Given the description of an element on the screen output the (x, y) to click on. 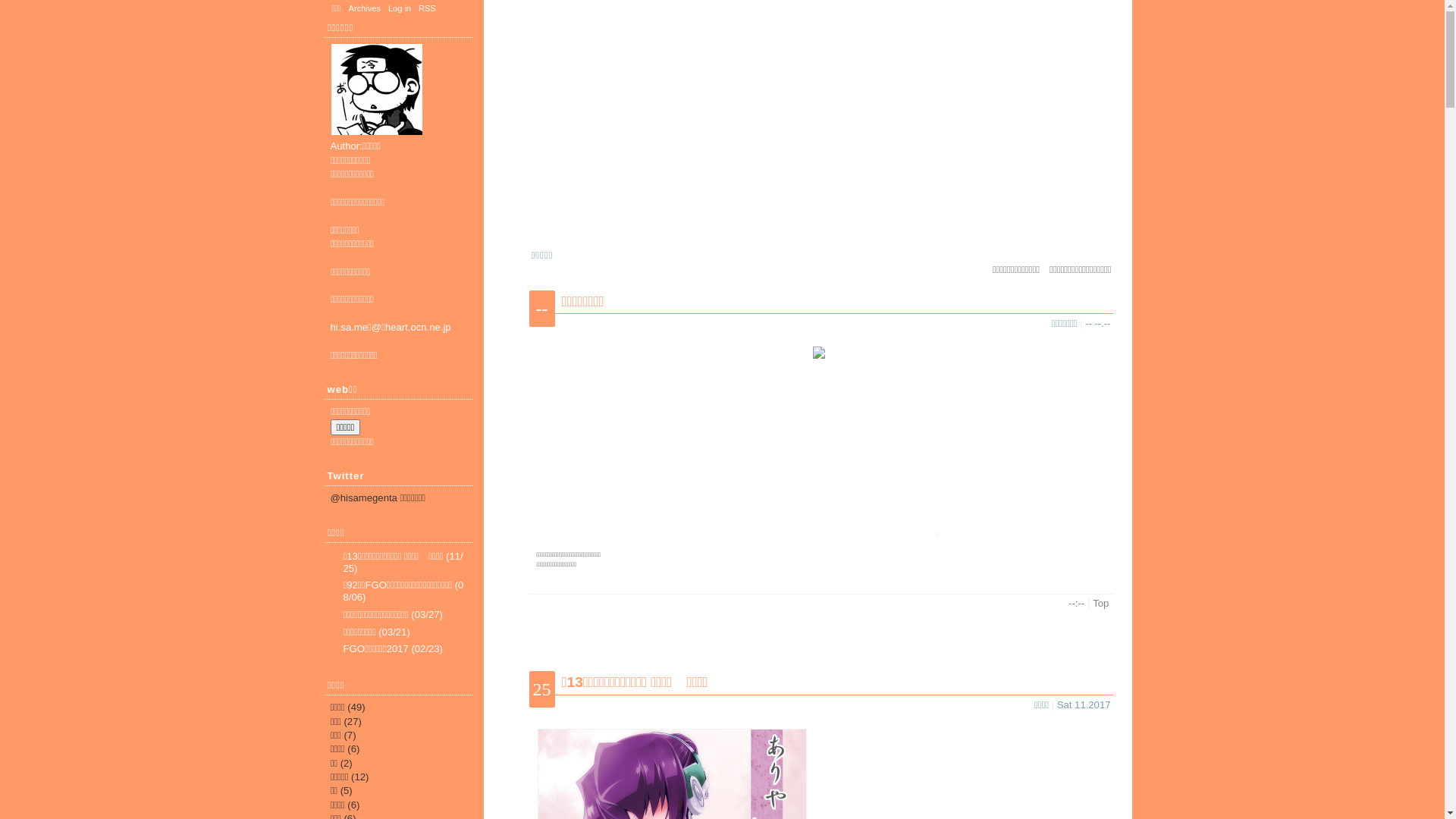
-- --.-- Element type: text (1097, 323)
Sat 11.2017 Element type: text (1083, 704)
RSS Element type: text (427, 7)
Top Element type: text (1100, 602)
Edit Element type: text (1051, 602)
Archives Element type: text (364, 7)
Log in Element type: text (399, 7)
